Given the description of an element on the screen output the (x, y) to click on. 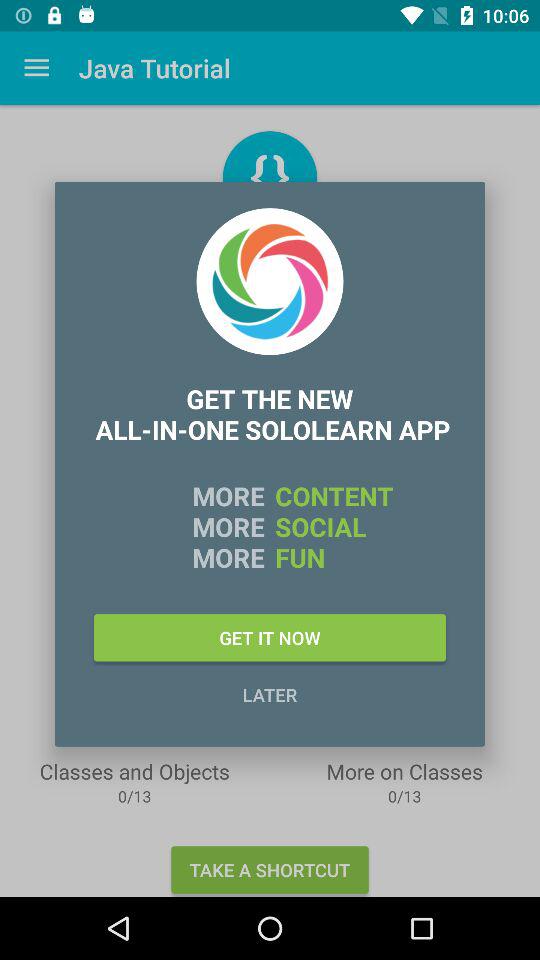
open later item (269, 694)
